Given the description of an element on the screen output the (x, y) to click on. 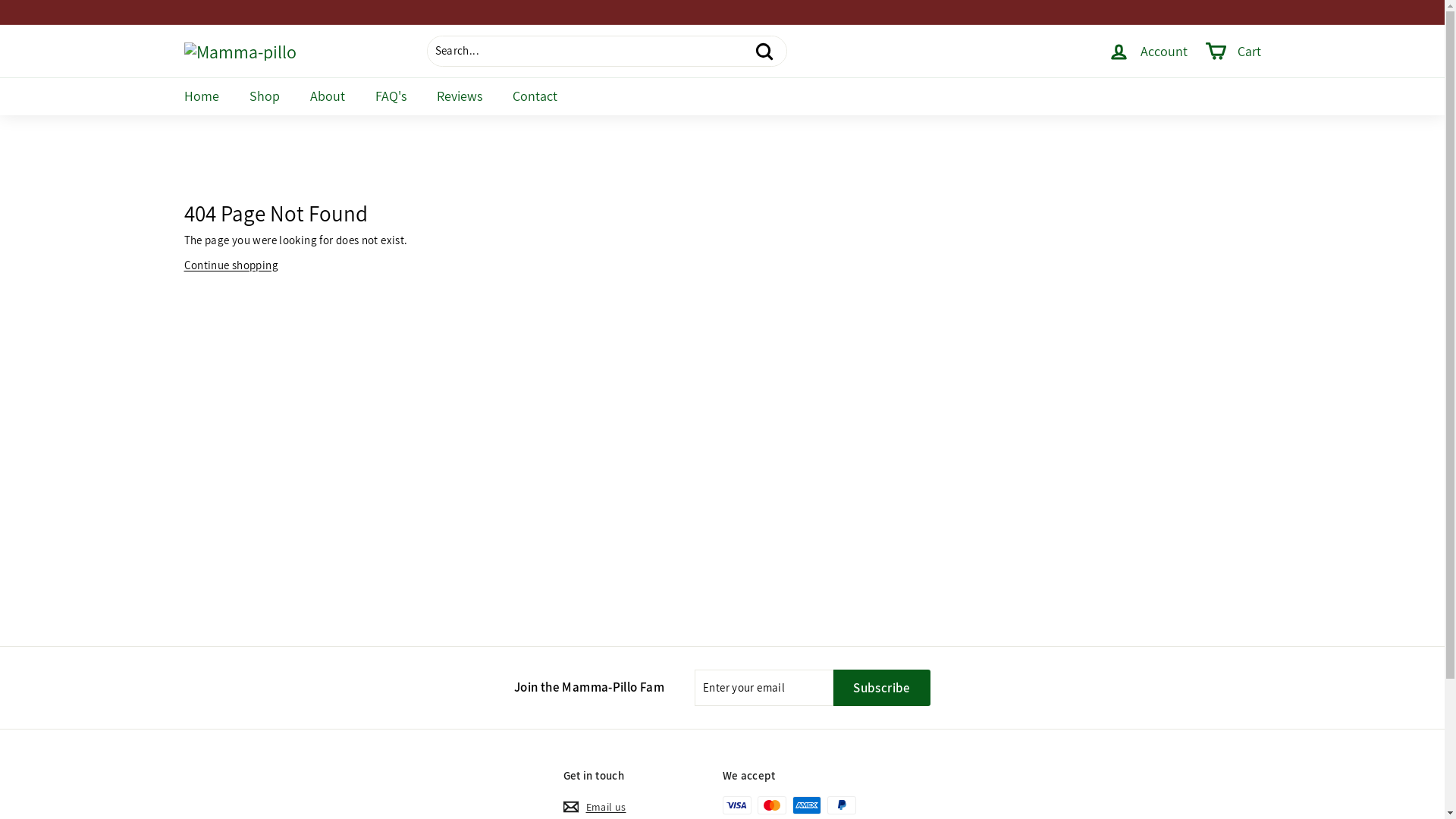
FAQ's Element type: text (389, 96)
Shop Element type: text (263, 96)
Subscribe Element type: text (881, 687)
Account Element type: text (1147, 50)
Email us Element type: text (593, 807)
Home Element type: text (200, 96)
Contact Element type: text (534, 96)
About Element type: text (326, 96)
Skip to content Element type: text (0, 0)
Continue shopping Element type: text (230, 264)
Reviews Element type: text (459, 96)
